Given the description of an element on the screen output the (x, y) to click on. 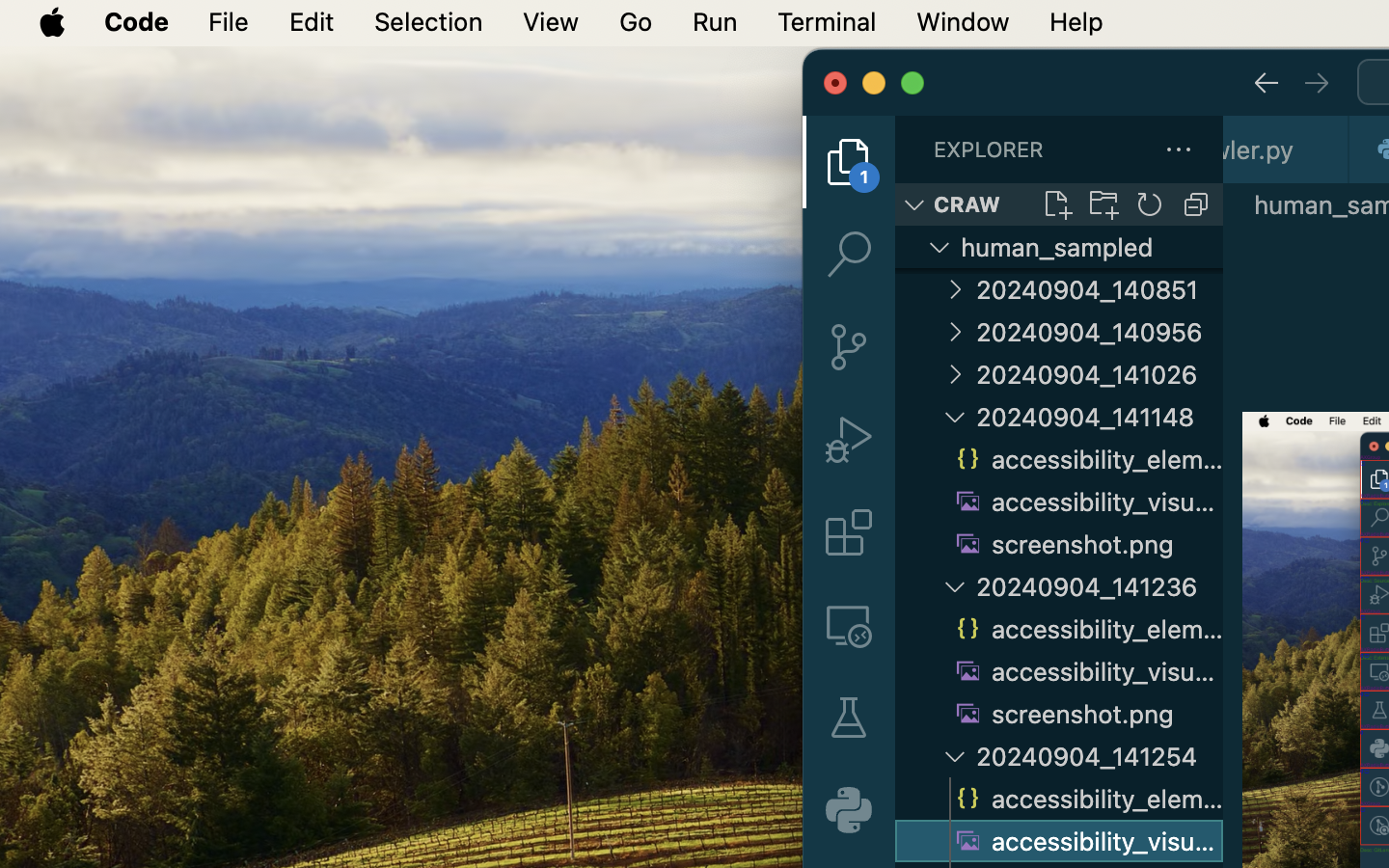
20240904_140851 Element type: AXGroup (1099, 289)
CRAW      Element type: AXButton (1059, 204)
0  Element type: AXRadioButton (848, 346)
 Element type: AXGroup (848, 439)
accessibility_visualization.png  Element type: AXGroup (1086, 501)
